Given the description of an element on the screen output the (x, y) to click on. 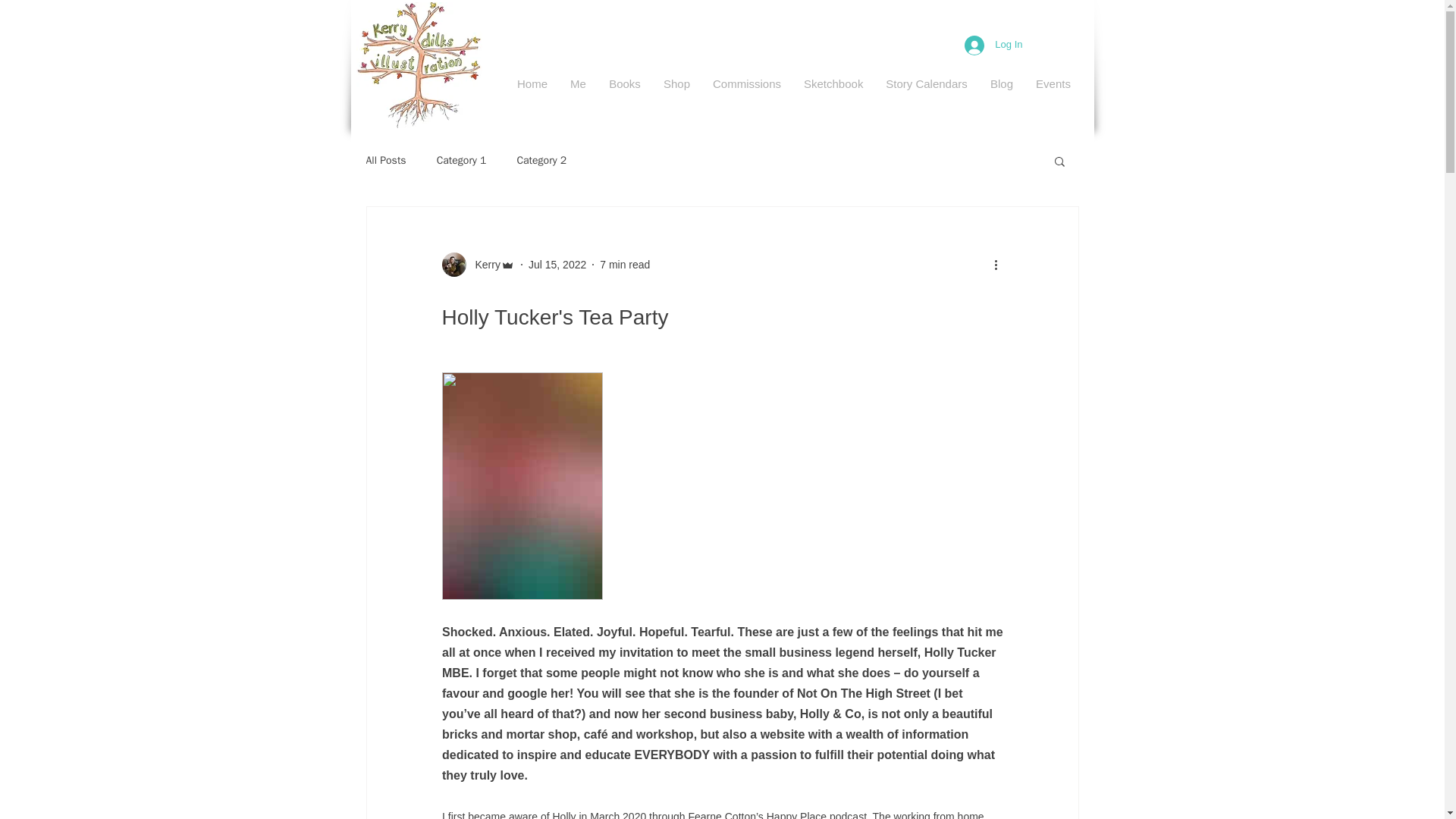
Jul 15, 2022 (557, 263)
Me (577, 83)
Log In (992, 44)
Blog (1001, 83)
Kerry (477, 264)
Home (532, 83)
Sketchbook (833, 83)
Category 2 (541, 160)
Shop (676, 83)
Category 1 (461, 160)
7 min read (624, 263)
All Posts (385, 160)
Commissions (746, 83)
Kerry (482, 263)
